Given the description of an element on the screen output the (x, y) to click on. 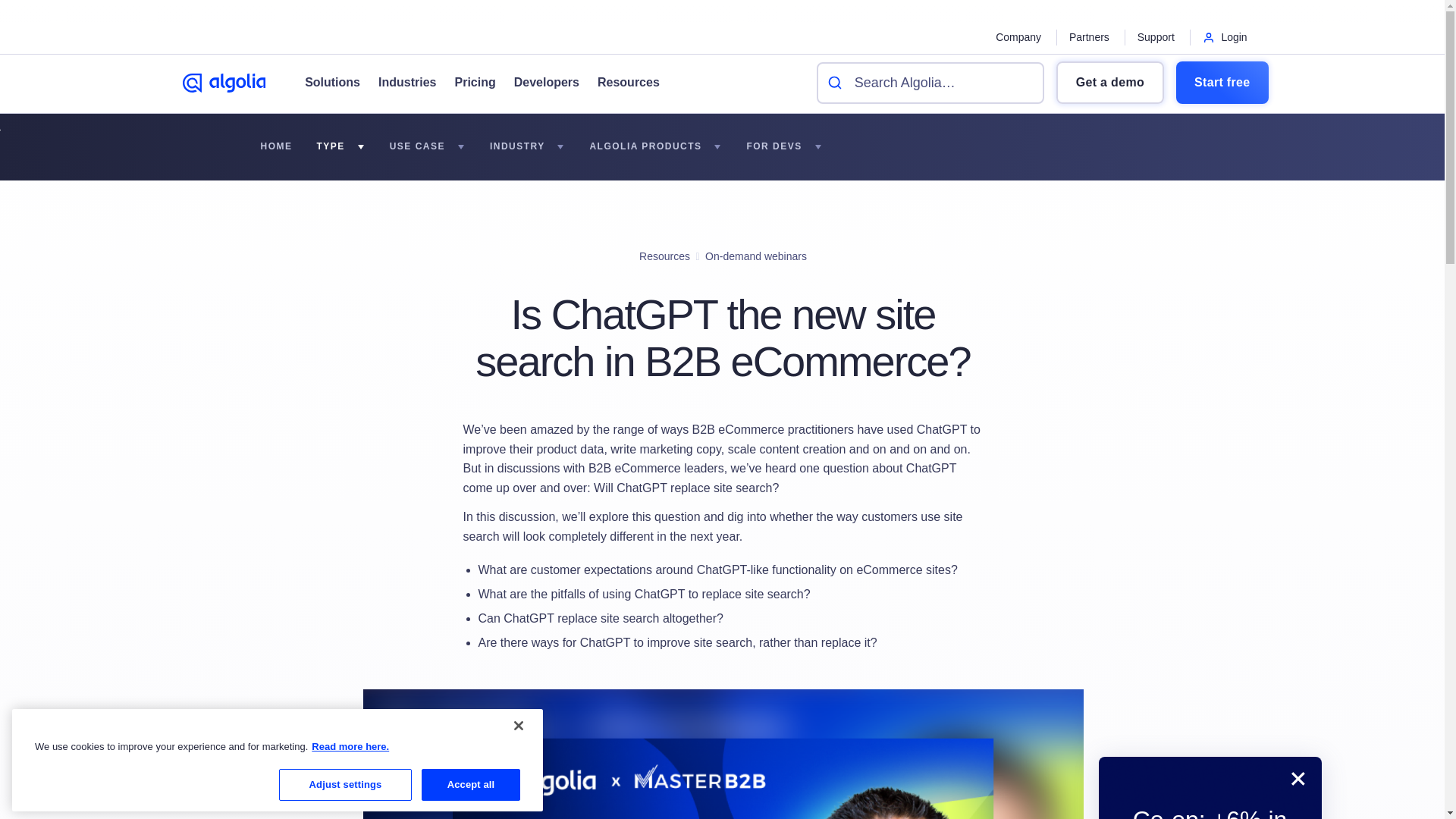
Pricing (465, 82)
Solutions (331, 82)
Industries (397, 82)
Developers (537, 82)
Resources (619, 82)
